Given the description of an element on the screen output the (x, y) to click on. 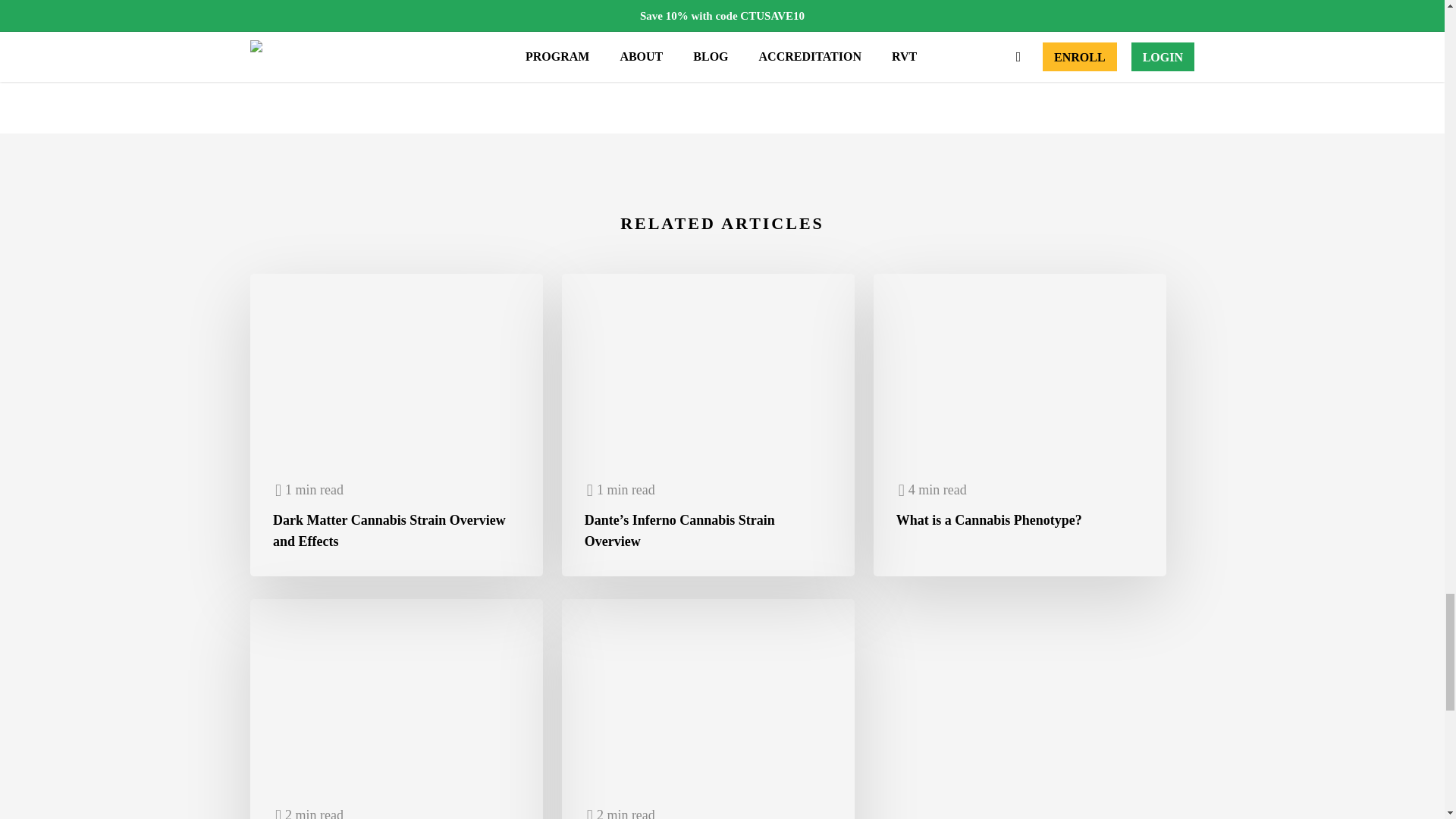
Pin this (571, 12)
Tweet this (386, 12)
Share this (292, 12)
Share this (482, 12)
